Given the description of an element on the screen output the (x, y) to click on. 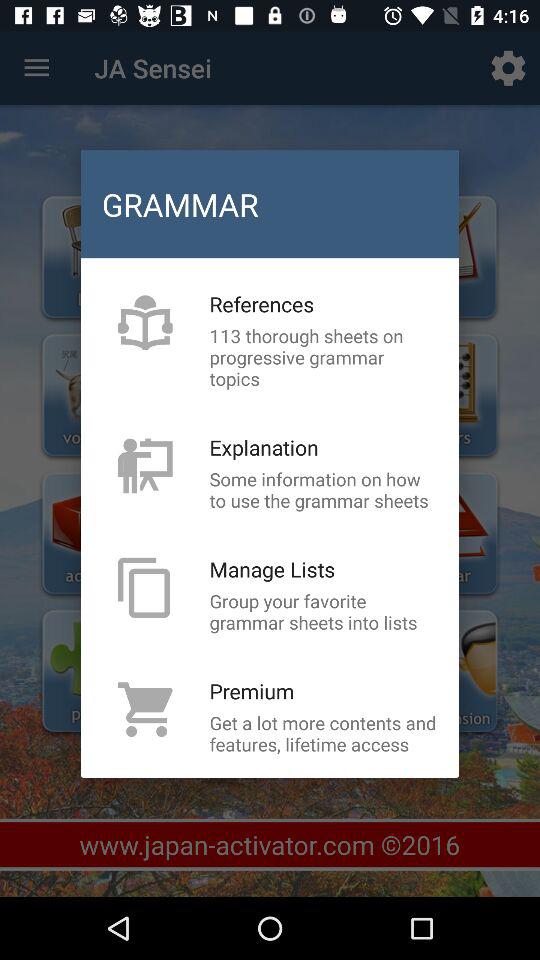
open the item below manage lists (323, 611)
